Given the description of an element on the screen output the (x, y) to click on. 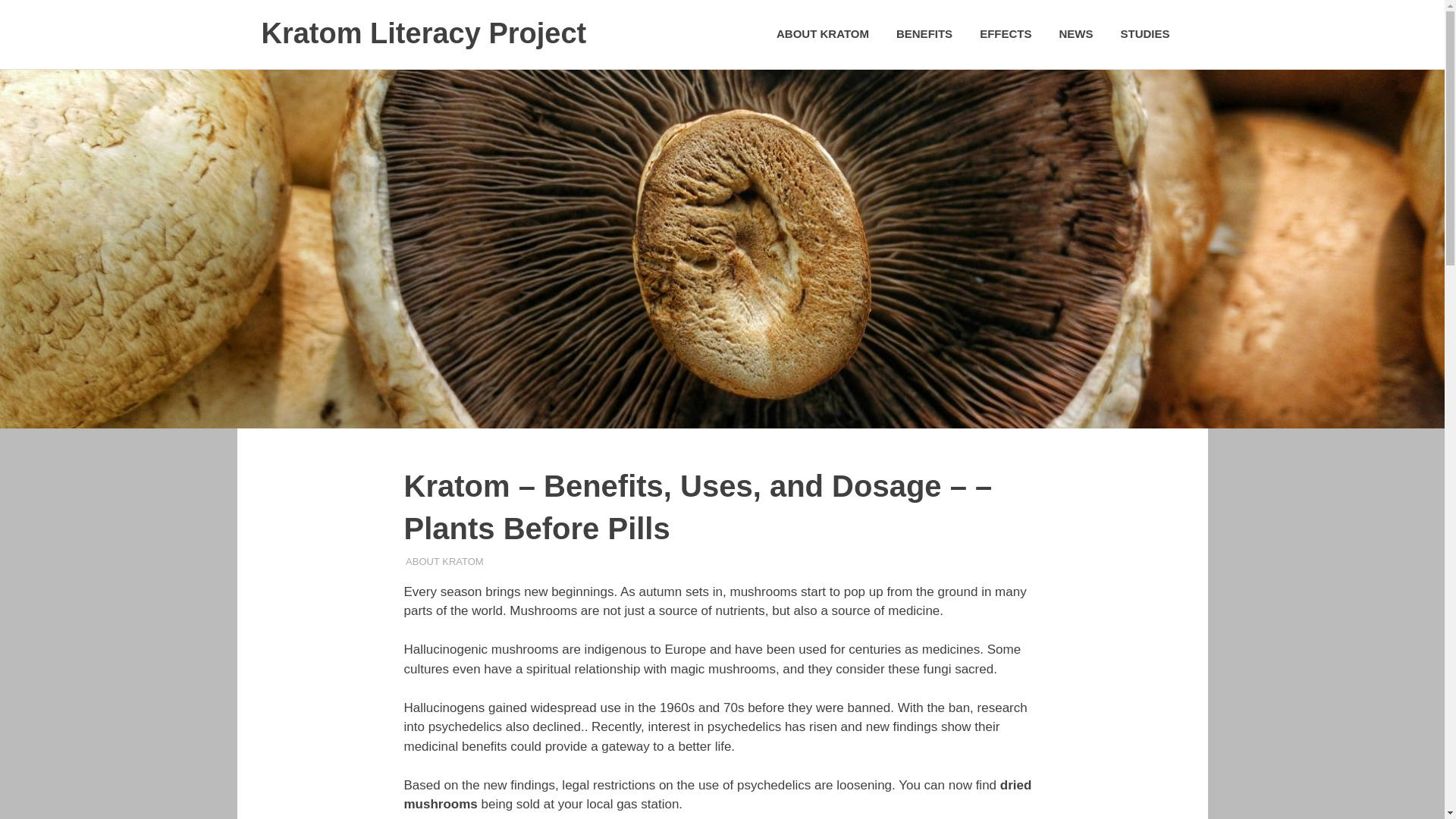
BENEFITS (924, 34)
ABOUT KRATOM (444, 561)
View all posts by Staff (420, 561)
STAFF (420, 561)
ABOUT KRATOM (822, 34)
NEWS (1075, 34)
2:56 pm (436, 561)
Kratom Literacy Project (423, 33)
EFFECTS (1005, 34)
STUDIES (1144, 34)
JUNE 5, 2020 (436, 561)
